Given the description of an element on the screen output the (x, y) to click on. 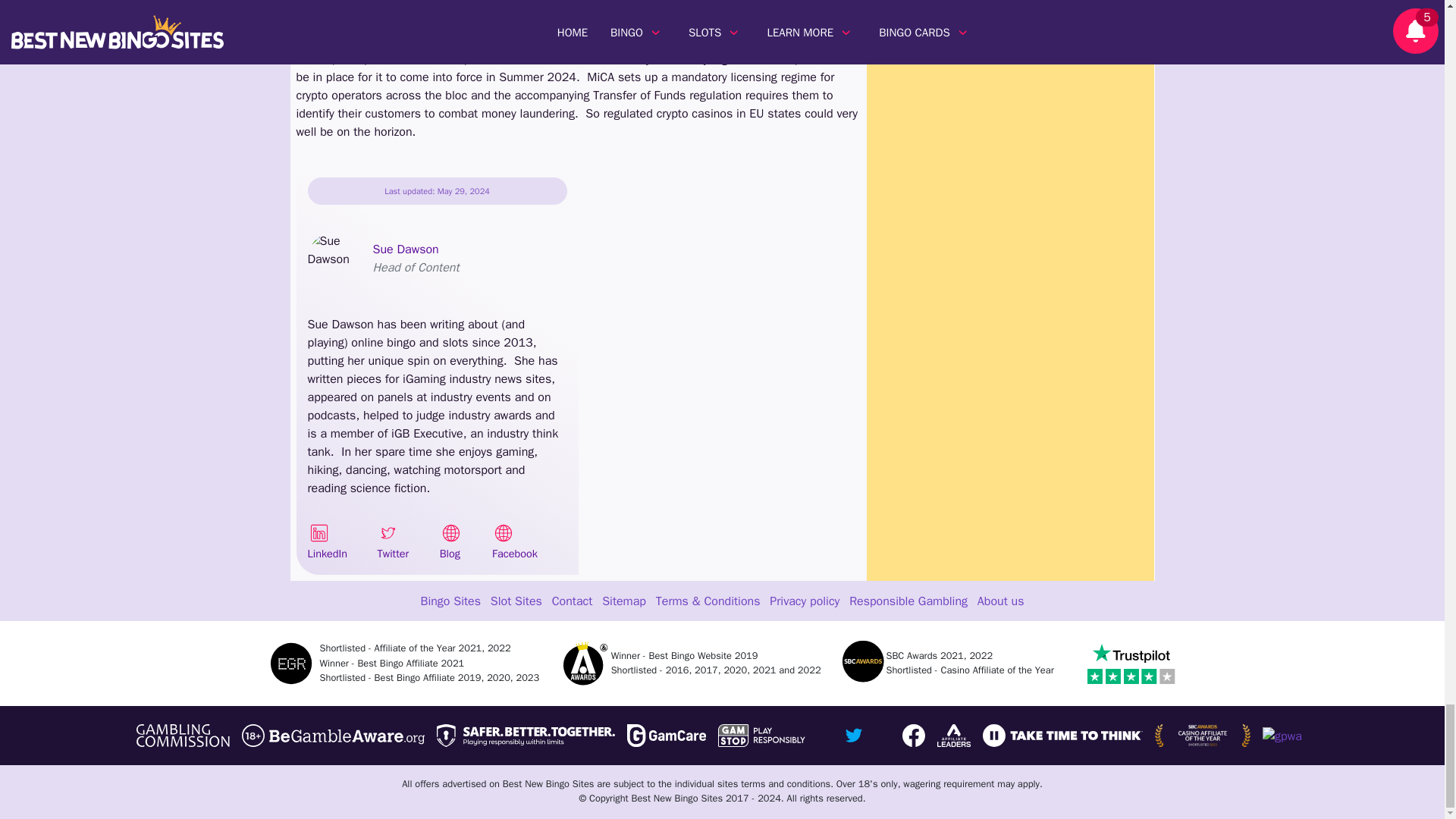
gambling commission (183, 734)
